Given the description of an element on the screen output the (x, y) to click on. 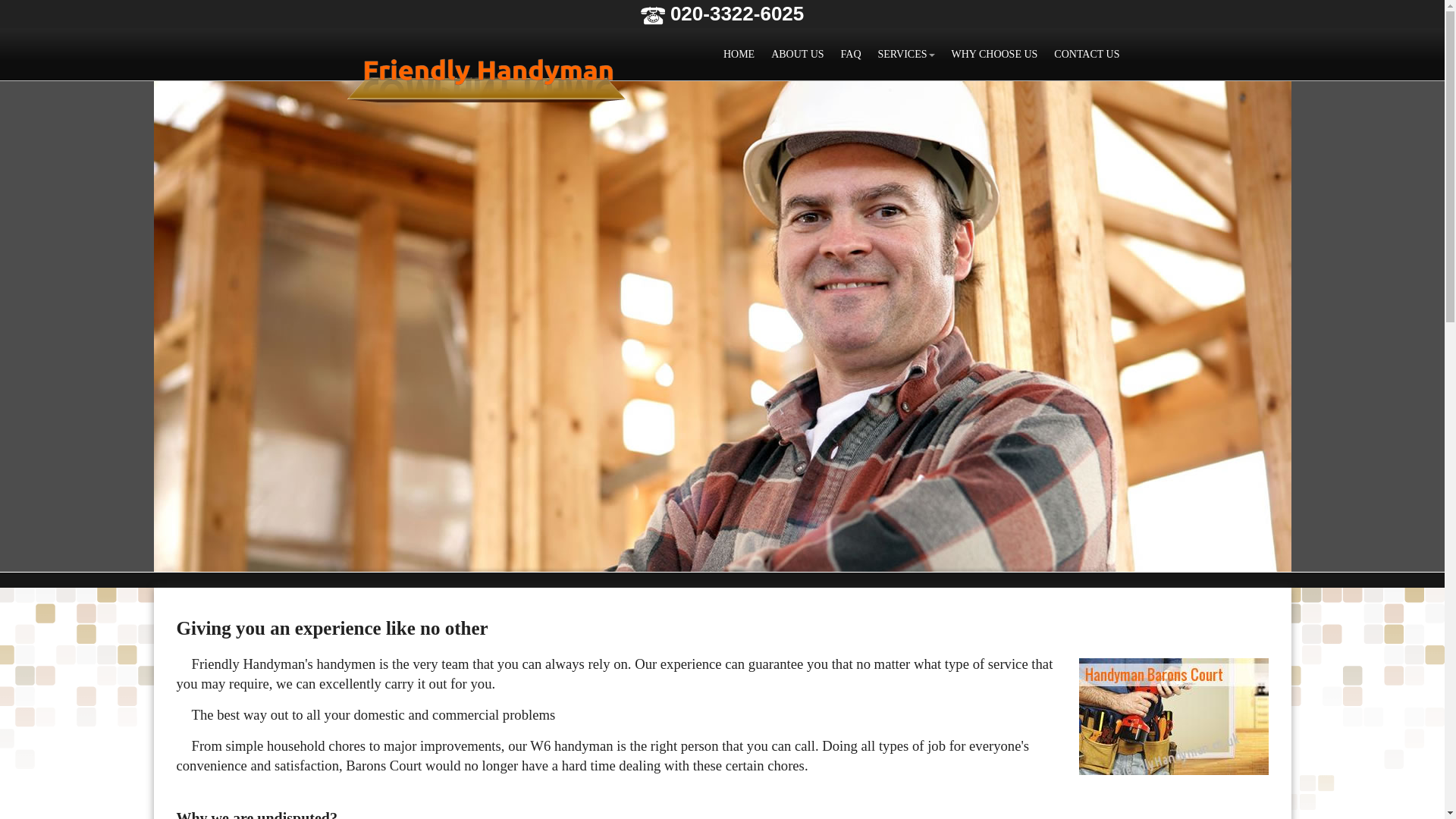
ABOUT US (796, 54)
Friendly Handyman (486, 77)
SERVICES (906, 54)
WHY CHOOSE US (994, 54)
FAQ (850, 54)
HOME (738, 54)
020-3322-6025 (722, 13)
CONTACT US (1086, 54)
